Given the description of an element on the screen output the (x, y) to click on. 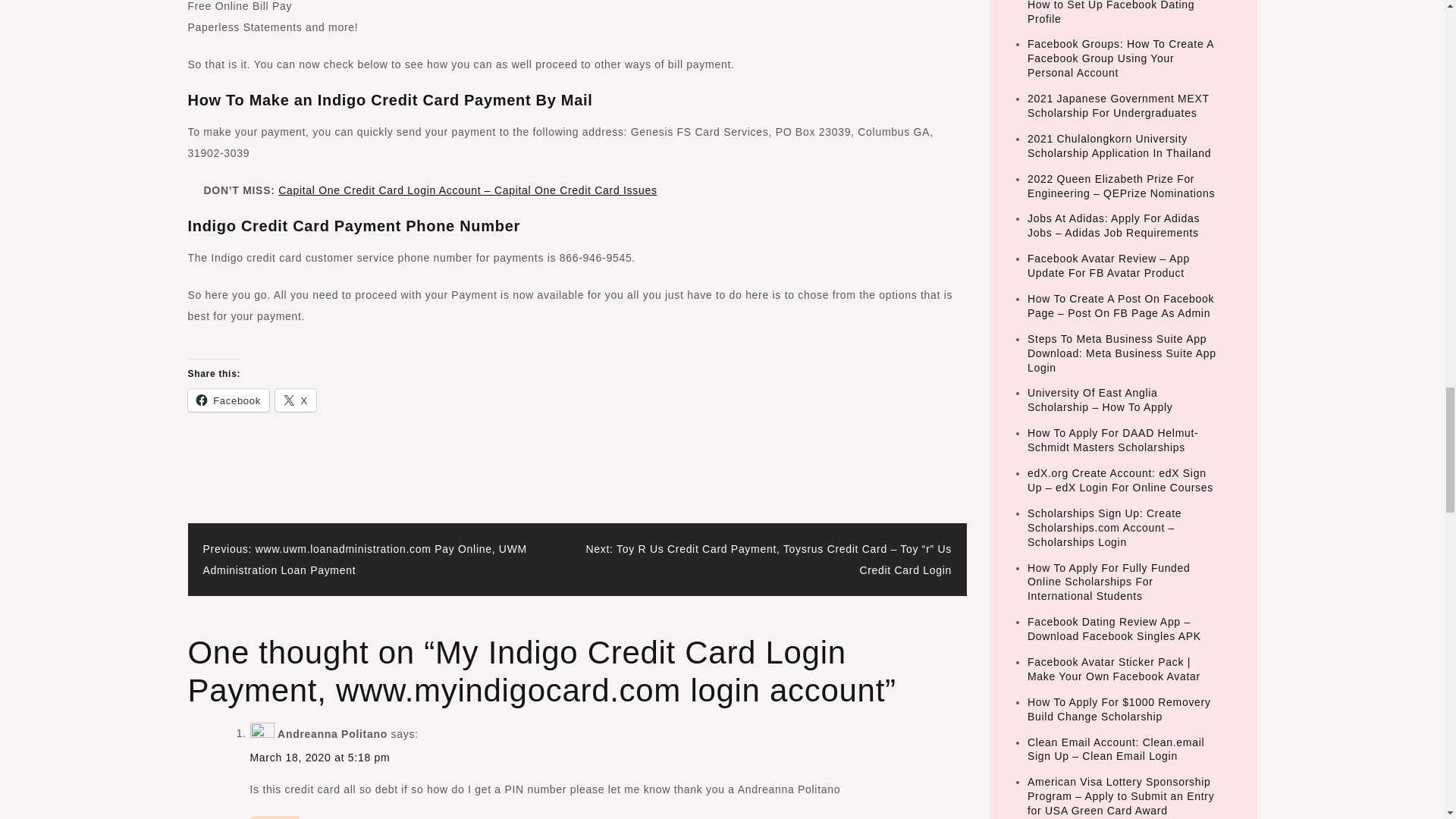
Reply (274, 817)
March 18, 2020 at 5:18 pm (320, 757)
Facebook (228, 400)
X (295, 400)
Click to share on X (295, 400)
Click to share on Facebook (228, 400)
